Given the description of an element on the screen output the (x, y) to click on. 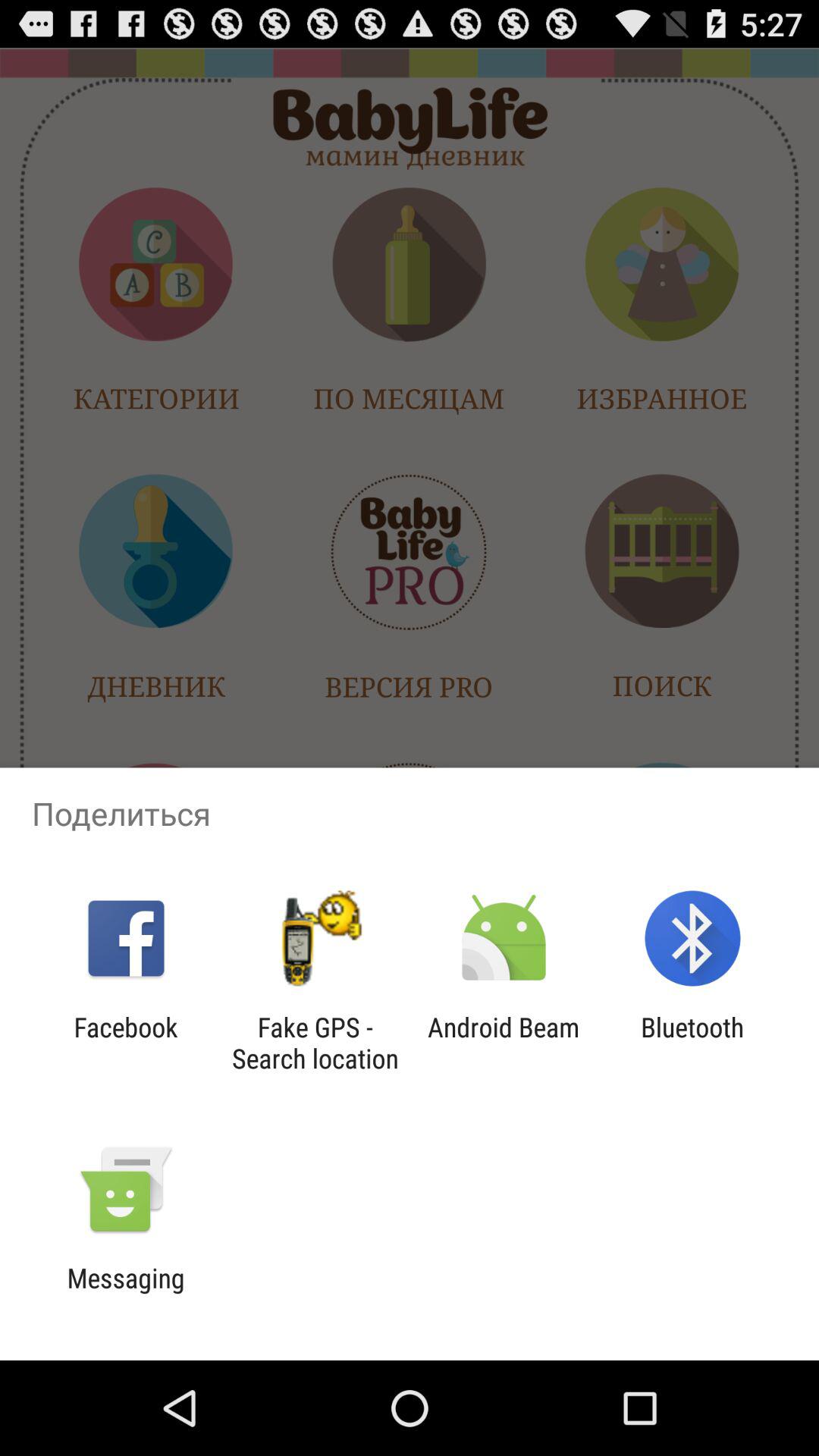
click the item at the bottom right corner (691, 1042)
